Given the description of an element on the screen output the (x, y) to click on. 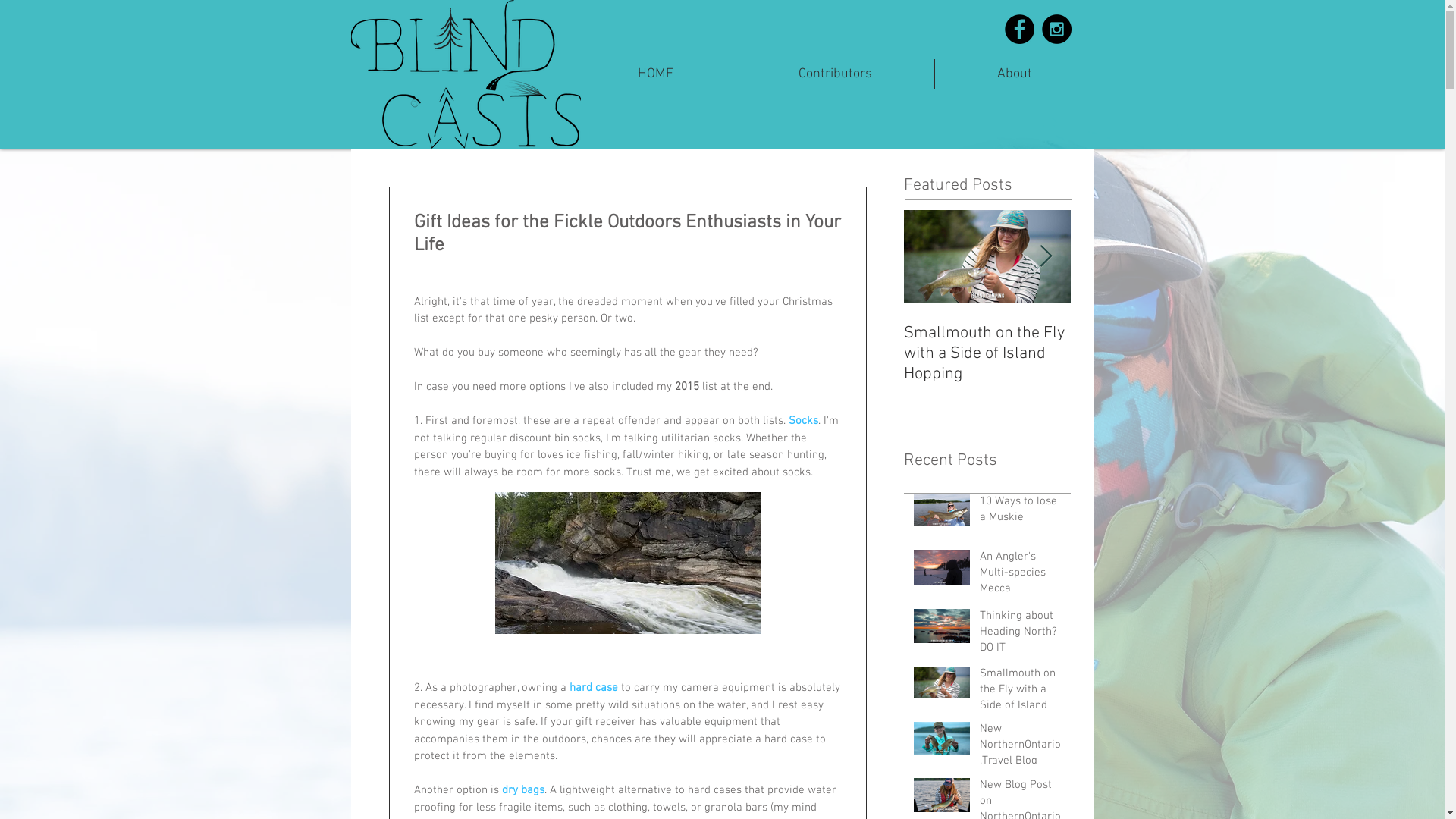
About Element type: text (1013, 73)
New NorthernOntario.Travel Blog Now Live Element type: text (1020, 755)
HOME Element type: text (654, 73)
hard case Element type: text (592, 687)
dry bags Element type: text (523, 790)
3 Tips for Muskie Element type: text (1153, 333)
Contributors Element type: text (834, 73)
Smallmouth on the Fly with a Side of Island Hopping Element type: text (986, 353)
Blind Casts Lands Netflix Original Element type: text (1320, 343)
Smallmouth on the Fly with a Side of Island Hopping Element type: text (1020, 700)
An Angler's Multi-species Mecca Element type: text (1020, 575)
Socks Element type: text (803, 420)
10 Ways to lose a Muskie Element type: text (1020, 512)
Thinking about Heading North? DO IT Element type: text (1020, 635)
